Given the description of an element on the screen output the (x, y) to click on. 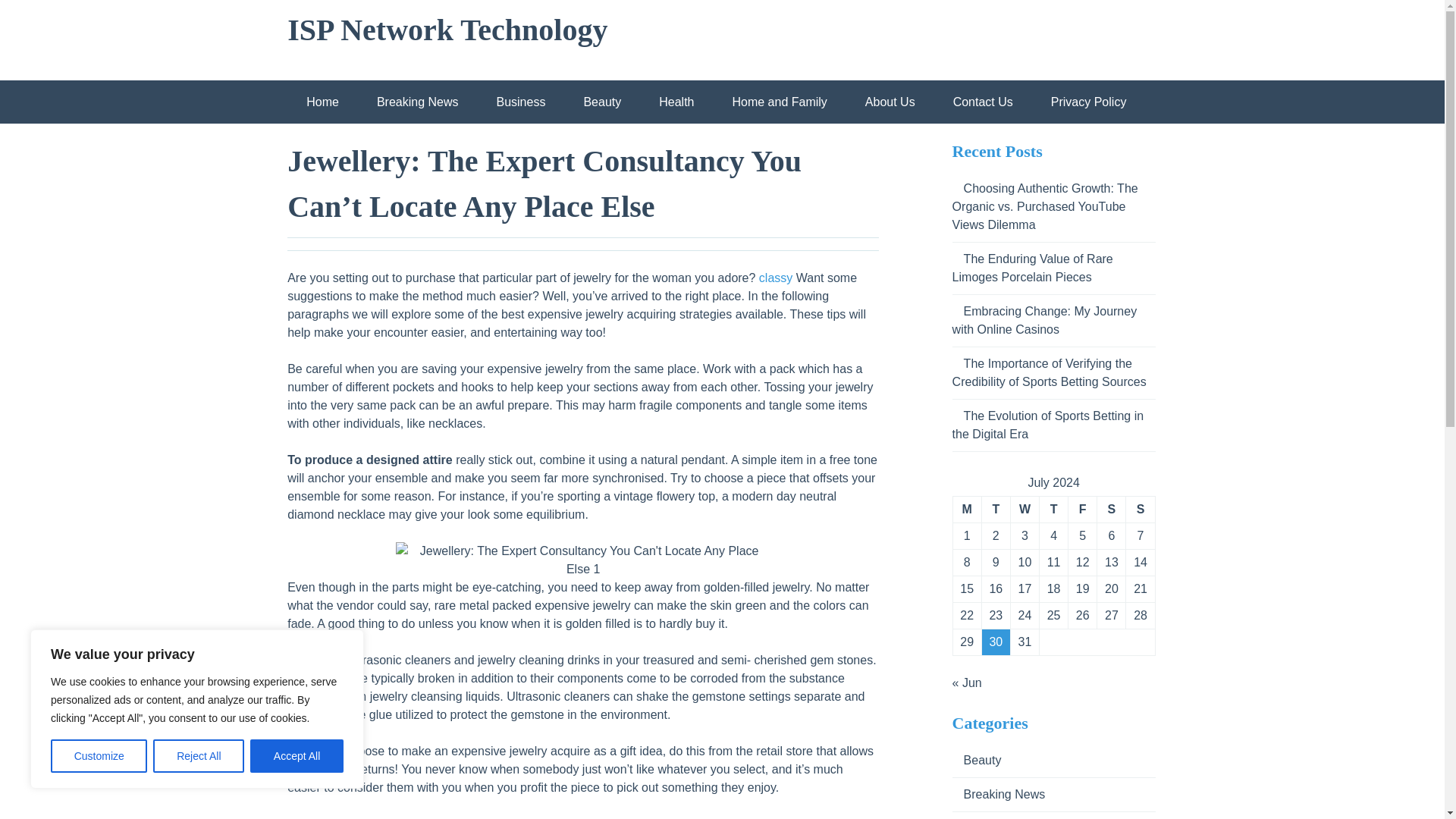
The Enduring Value of Rare Limoges Porcelain Pieces (1032, 267)
Saturday (1110, 509)
Contact Us (983, 101)
Embracing Change: My Journey with Online Casinos (1044, 319)
Home (322, 101)
Privacy Policy (1088, 101)
Health (676, 101)
classy (775, 277)
Business (520, 101)
Customize (98, 756)
Monday (966, 509)
ISP Network Technology (446, 29)
Breaking News (417, 101)
